Given the description of an element on the screen output the (x, y) to click on. 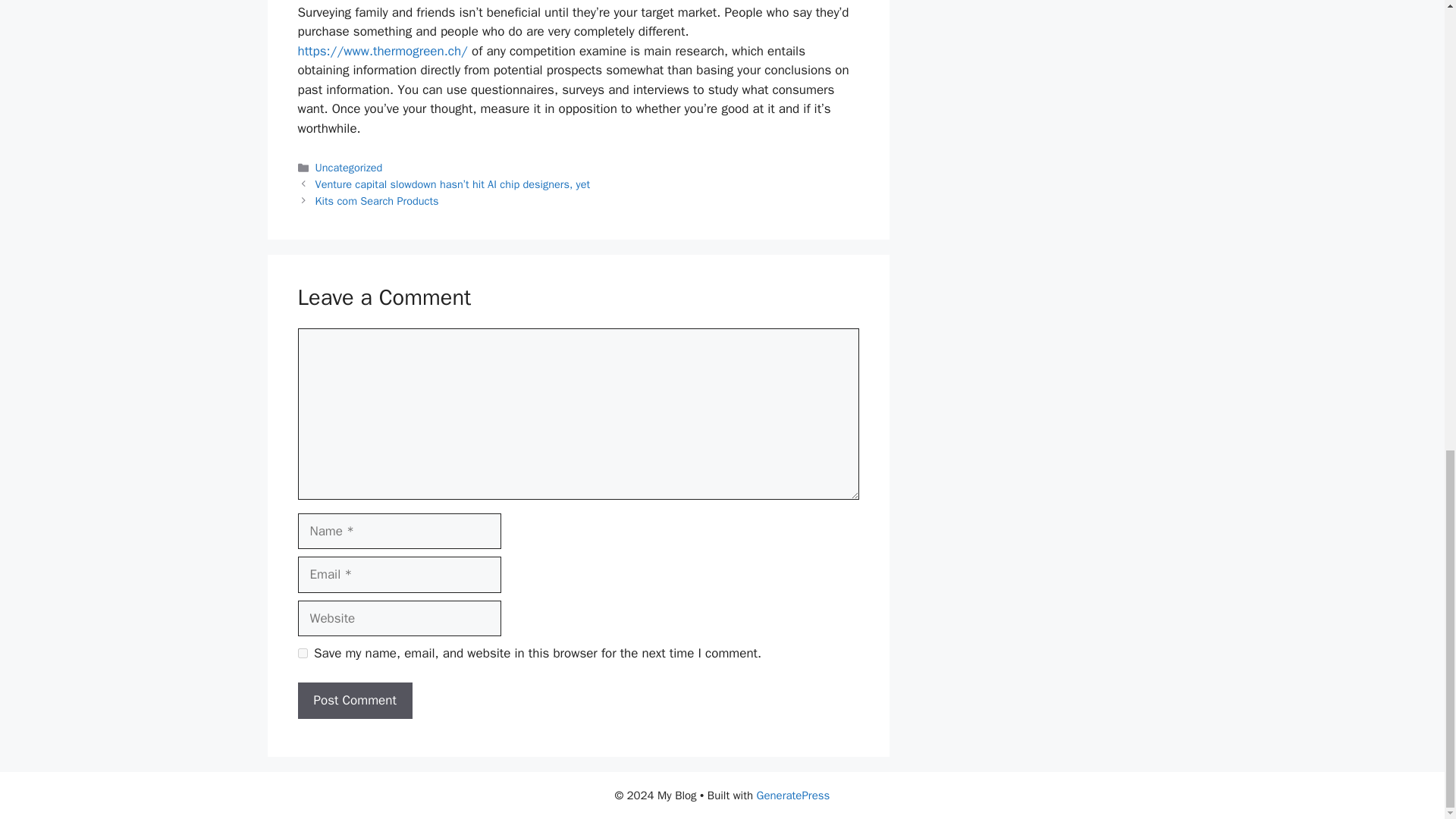
Post Comment (354, 700)
Uncategorized (348, 167)
GeneratePress (793, 795)
yes (302, 653)
Kits com Search Products (377, 201)
Post Comment (354, 700)
